Given the description of an element on the screen output the (x, y) to click on. 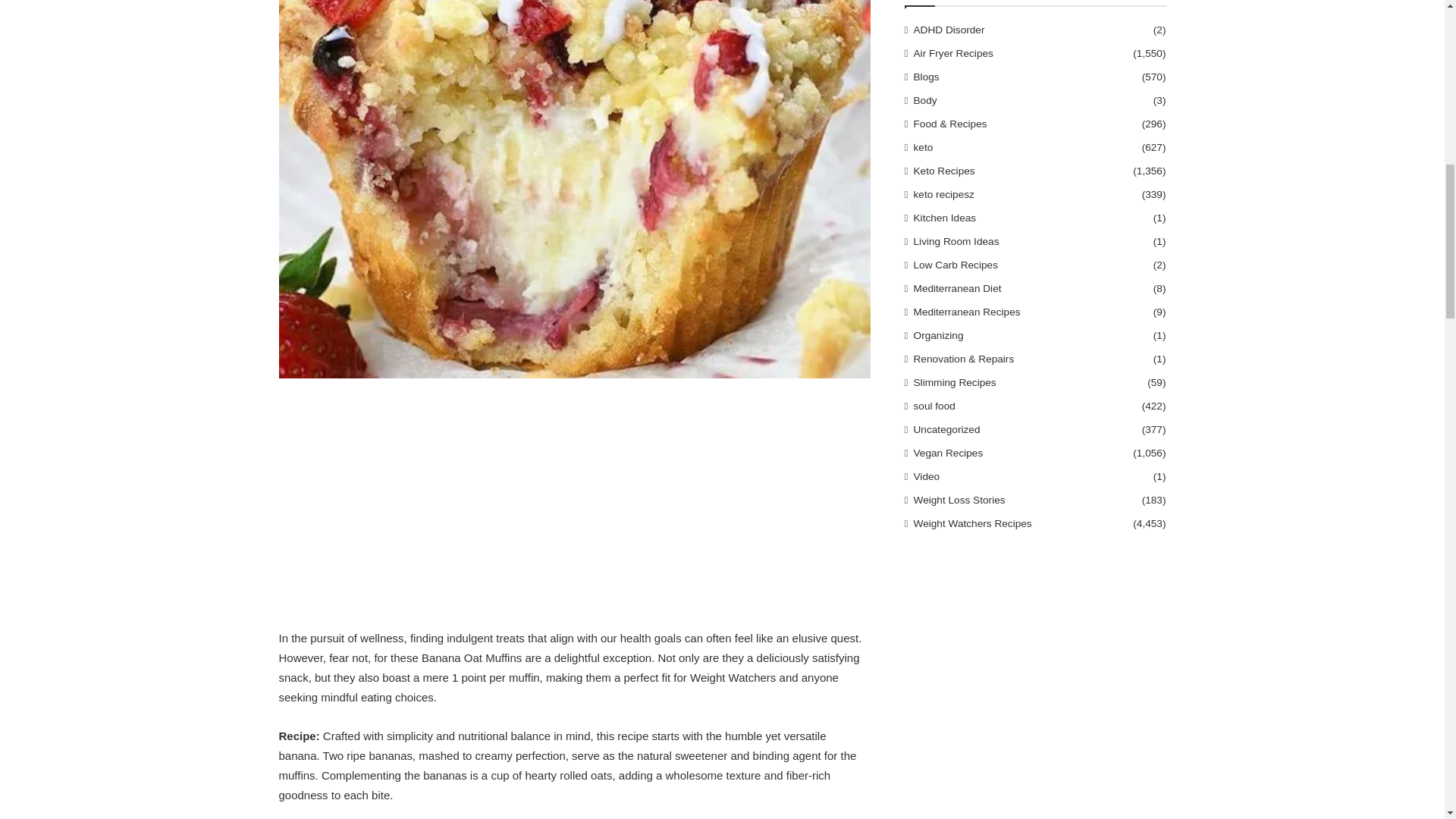
Body (925, 100)
Air Fryer Recipes (953, 53)
Blogs (926, 76)
ADHD Disorder (949, 29)
